Given the description of an element on the screen output the (x, y) to click on. 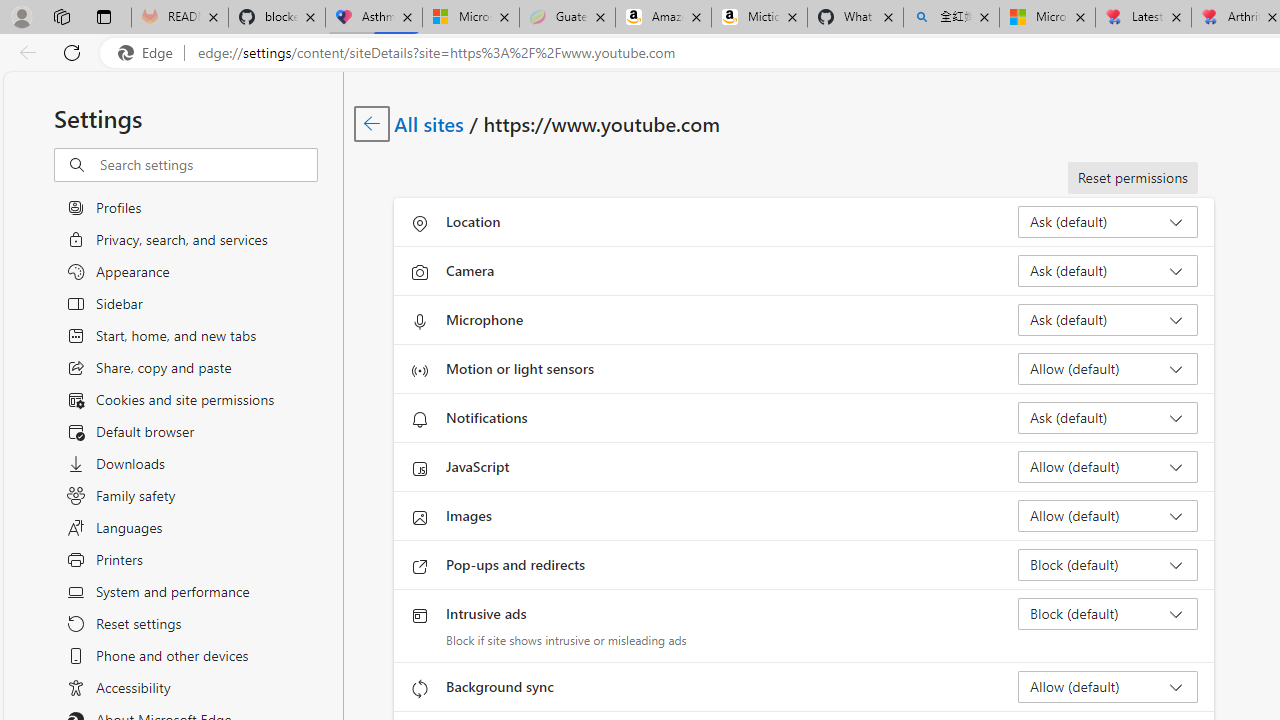
Edge (150, 53)
Go back to All sites page. (372, 123)
Microphone Ask (default) (1107, 319)
All sites (429, 123)
JavaScript Allow (default) (1107, 466)
Search settings (207, 165)
Intrusive ads Block (default) (1107, 614)
